Given the description of an element on the screen output the (x, y) to click on. 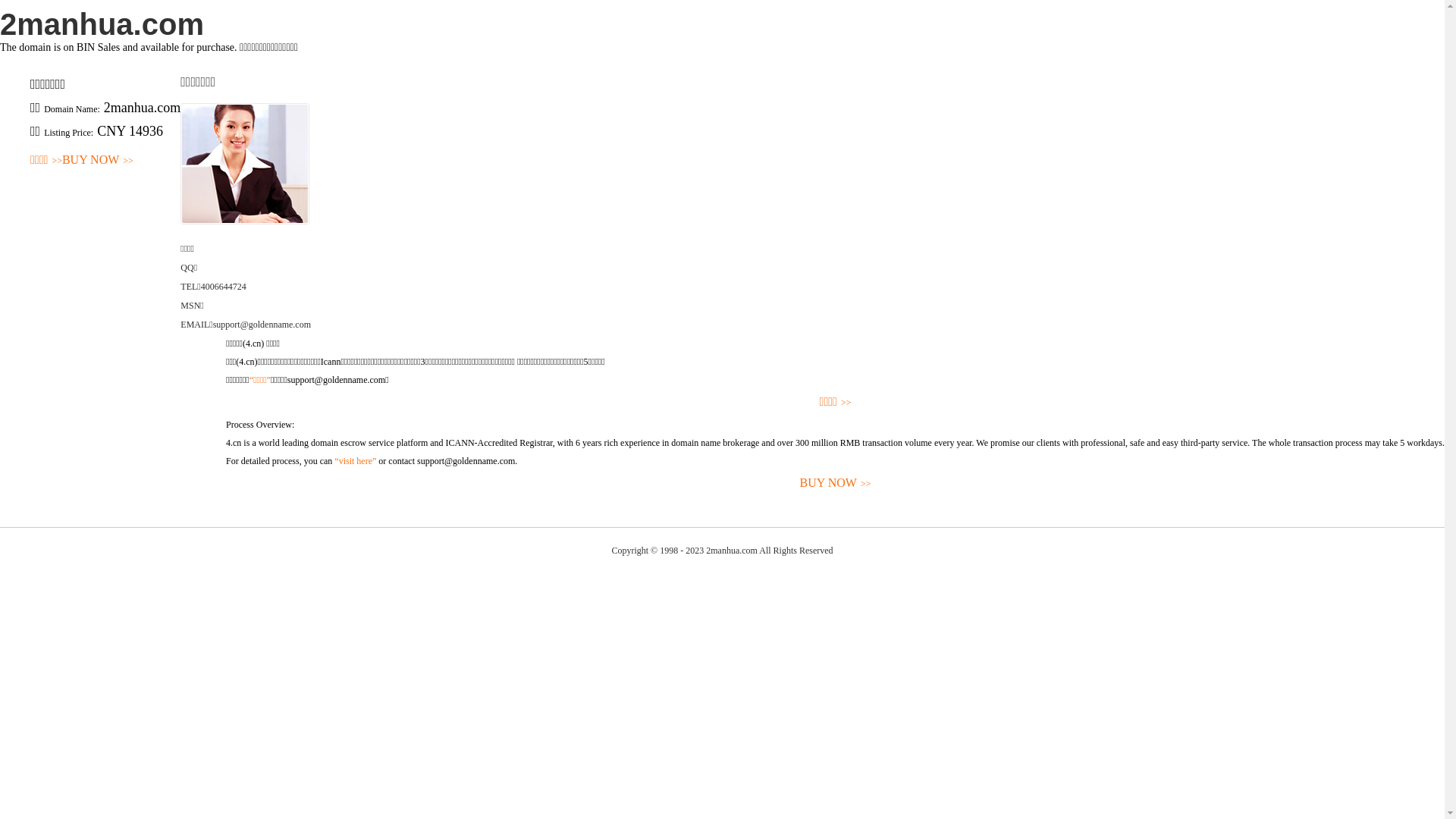
BUY NOW>> Element type: text (97, 160)
BUY NOW>> Element type: text (834, 483)
